Given the description of an element on the screen output the (x, y) to click on. 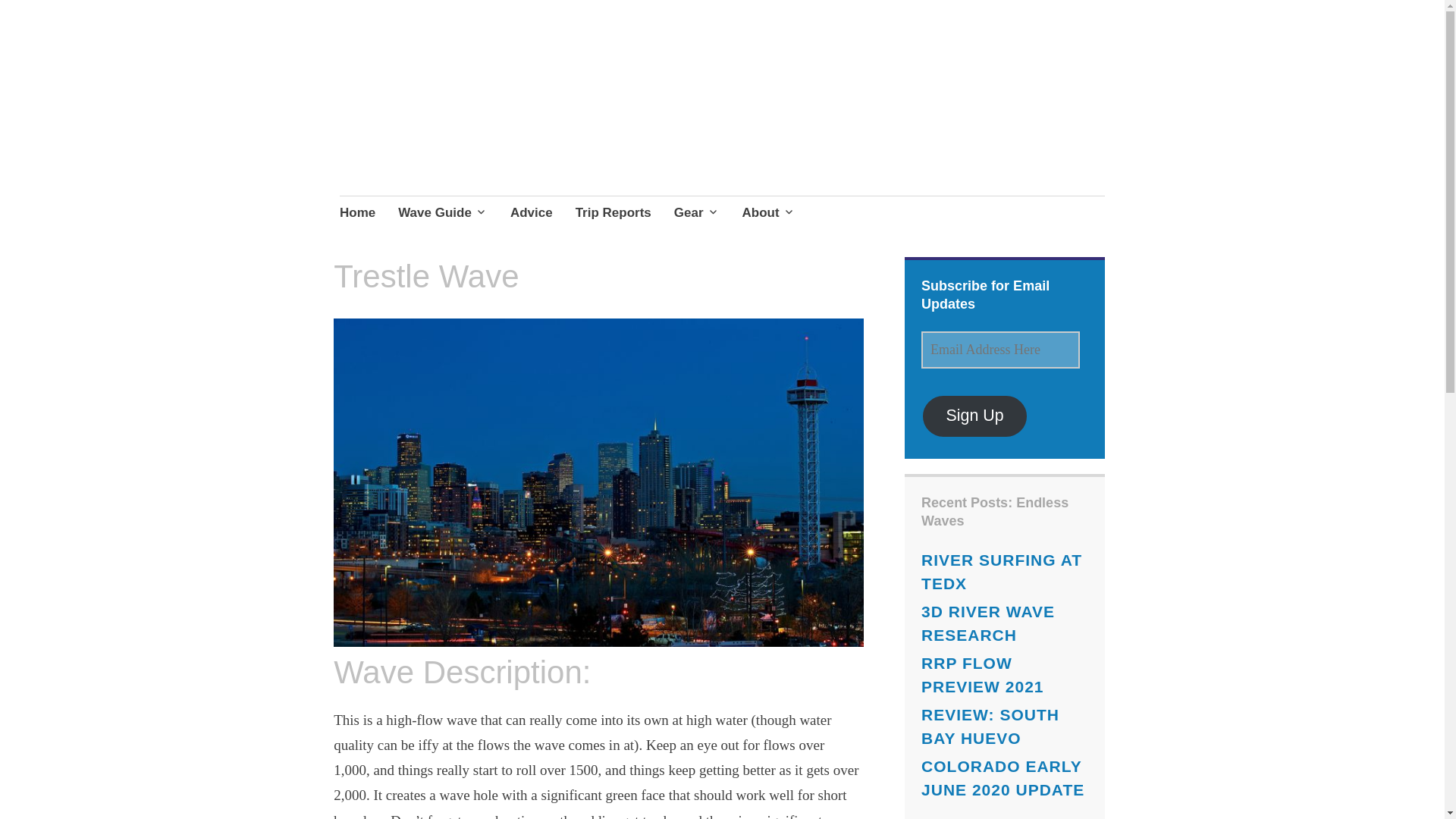
Wave Guide (442, 214)
Gear (696, 214)
RIVER SURFING AT TEDX (1001, 571)
Advice (532, 214)
Sign Up (974, 415)
3D RIVER WAVE RESEARCH (987, 623)
Trip Reports (612, 214)
About (767, 214)
RRP FLOW PREVIEW 2021 (982, 675)
Search (173, 17)
